Given the description of an element on the screen output the (x, y) to click on. 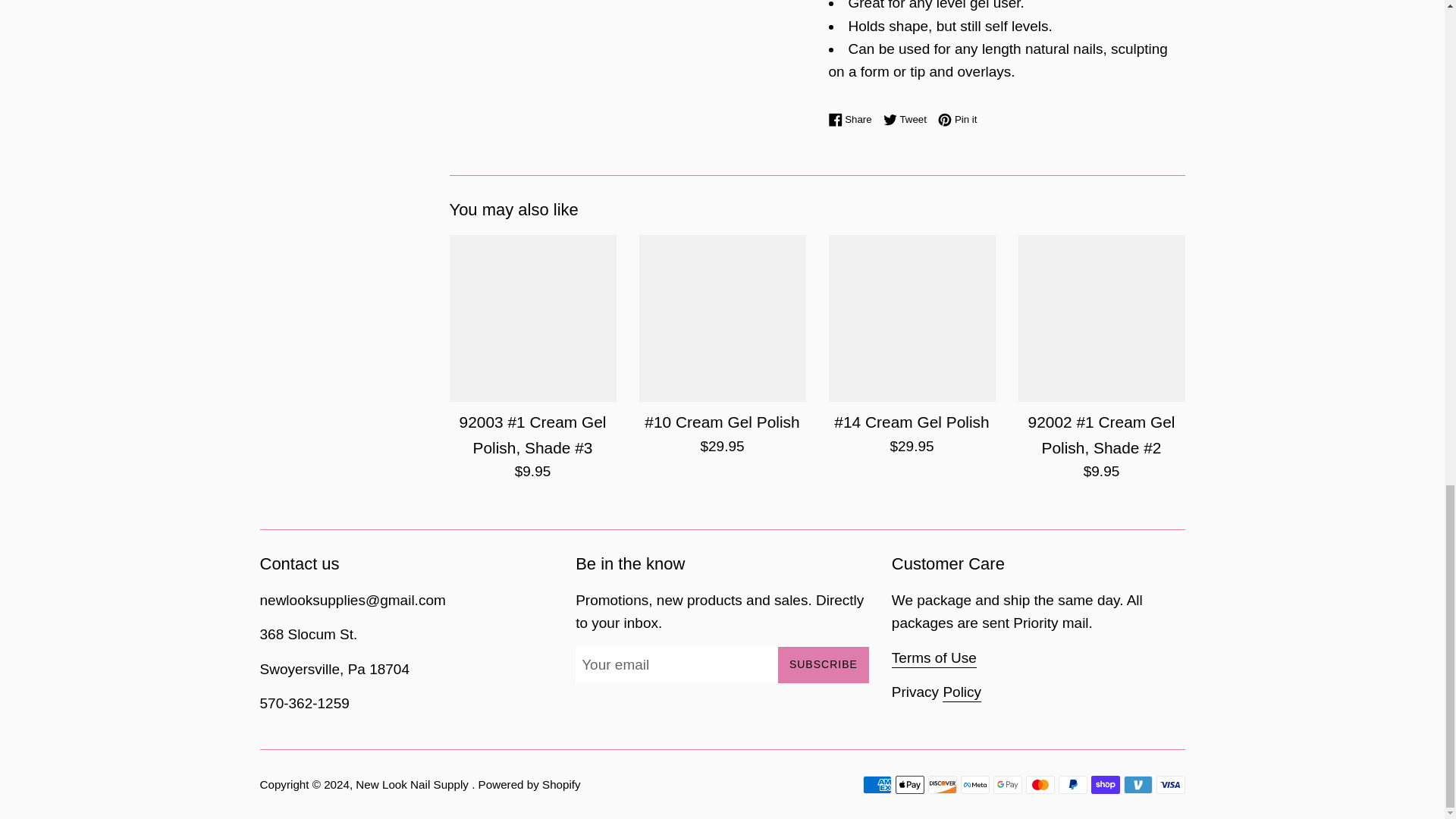
Venmo (853, 119)
Policy (1138, 784)
Mastercard (961, 692)
American Express (1039, 784)
Apple Pay (877, 784)
Visa (909, 784)
SUBSCRIBE (1170, 784)
Google Pay (823, 665)
Tweet on Twitter (1007, 784)
PayPal (908, 119)
Terms of Use (908, 119)
Discover (1072, 784)
